Given the description of an element on the screen output the (x, y) to click on. 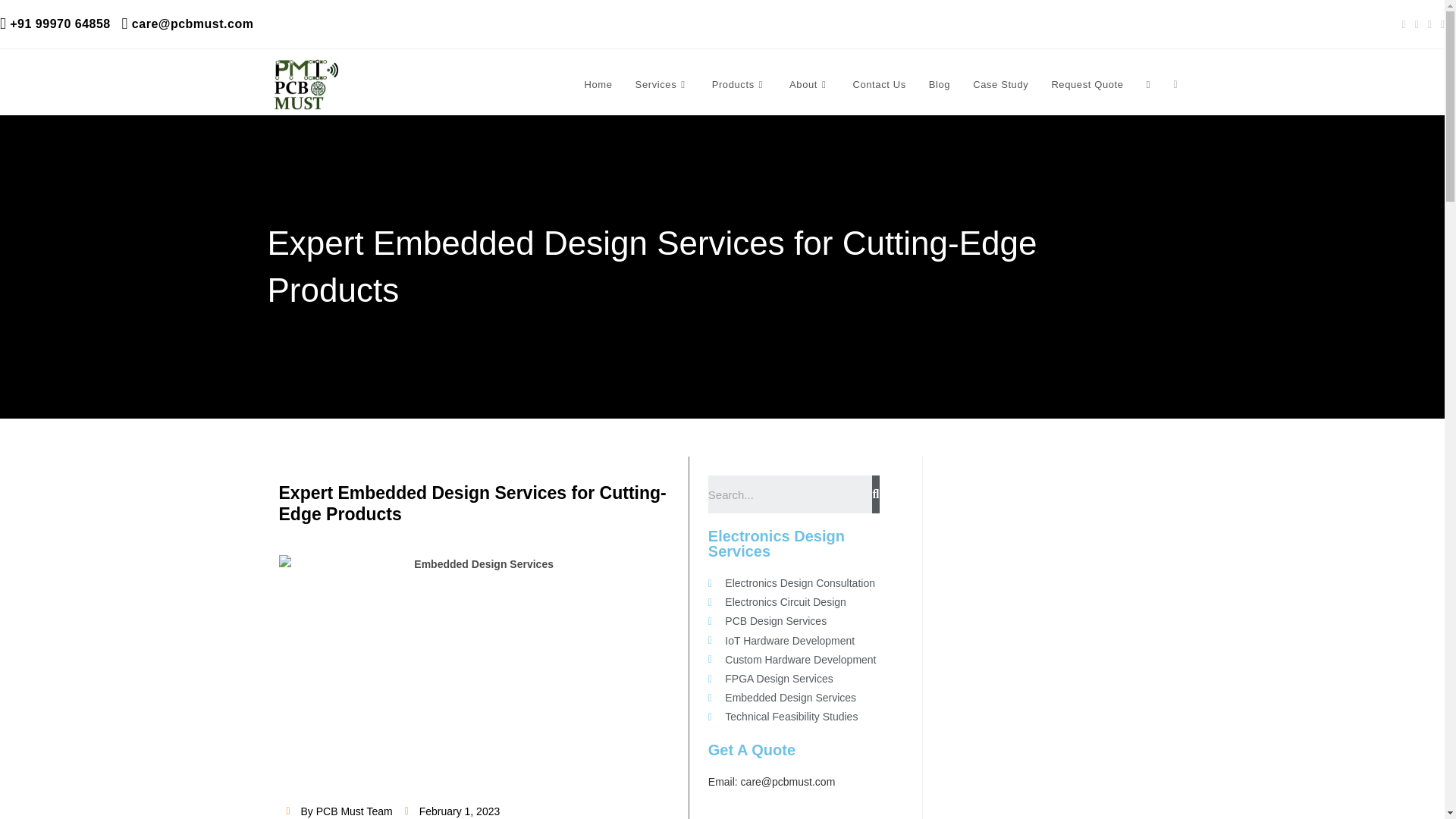
About (809, 84)
Home (598, 84)
Products (738, 84)
Search (789, 494)
Services (662, 84)
